Given the description of an element on the screen output the (x, y) to click on. 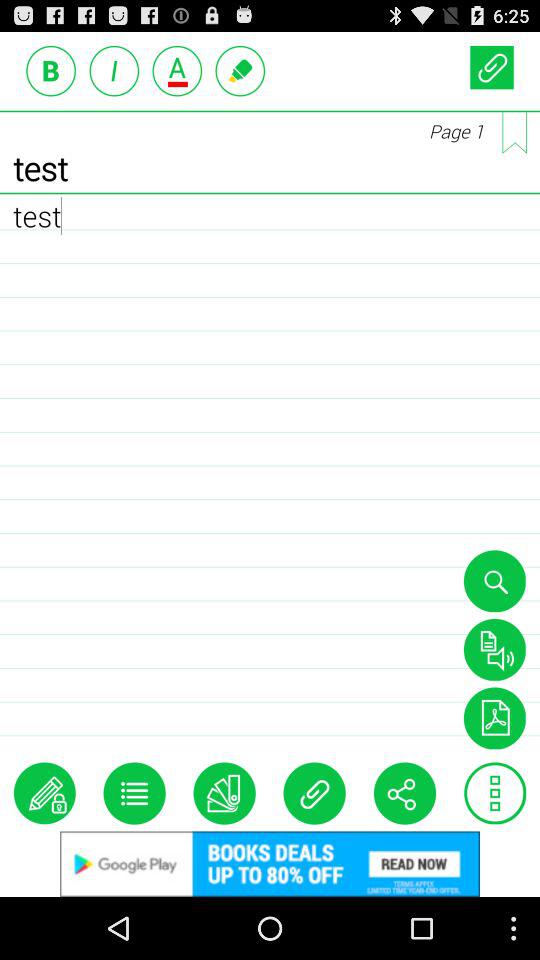
share the page (404, 793)
